Given the description of an element on the screen output the (x, y) to click on. 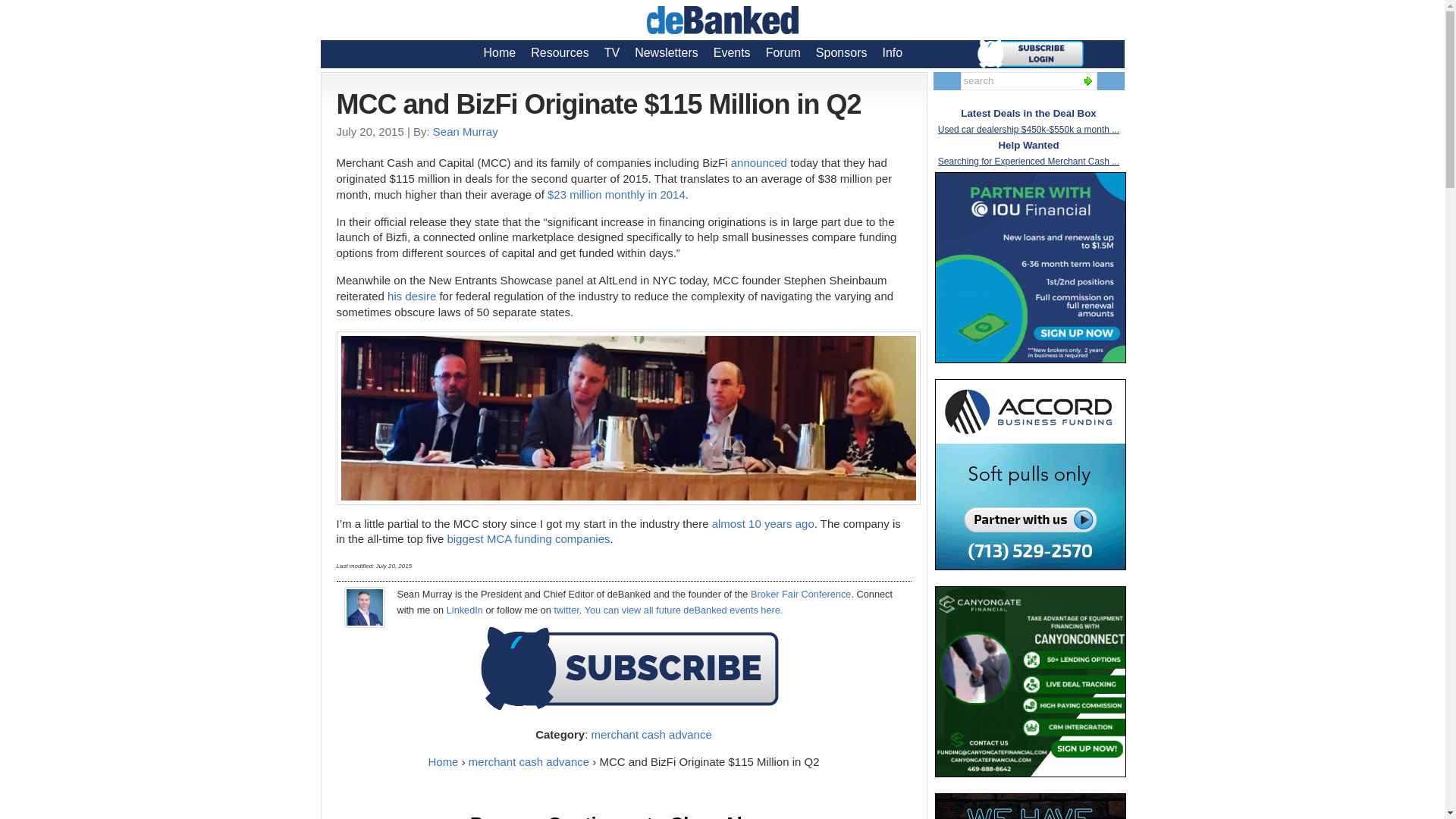
Broker Fair Conference (801, 593)
TV (611, 52)
twitter (565, 609)
Resources (558, 52)
biggest MCA funding companies (528, 538)
his desire (411, 295)
Home (500, 52)
Forum (783, 52)
almost 10 years ago (762, 522)
The Smarter Merchant (1029, 806)
